Given the description of an element on the screen output the (x, y) to click on. 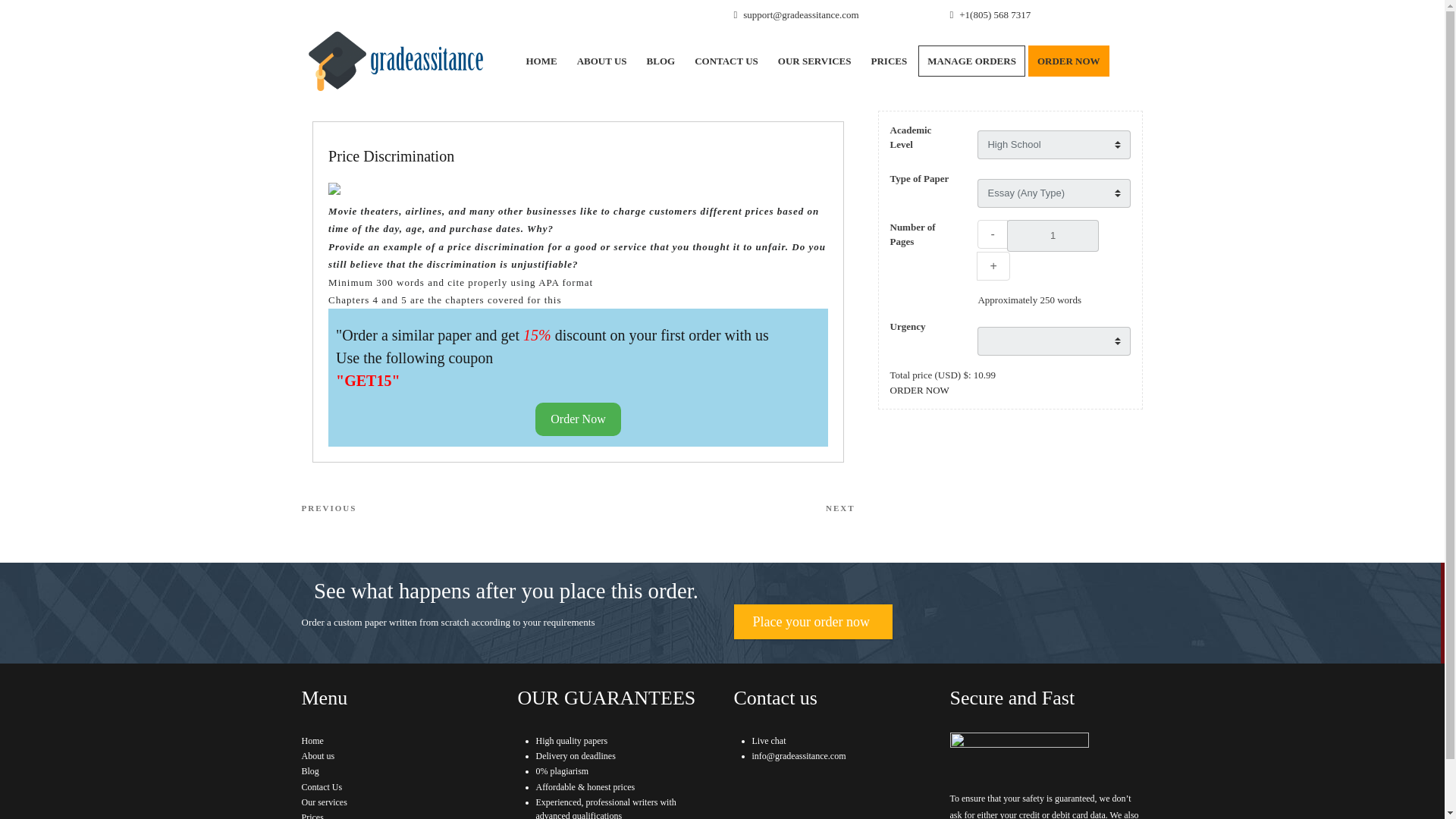
Blog (439, 508)
ORDER NOW (309, 770)
Order Now (919, 389)
Place your order now (577, 418)
About us (812, 621)
MANAGE ORDERS (317, 756)
Our services (971, 60)
- (324, 801)
PRICES (991, 234)
CONTACT US (889, 60)
BLOG (726, 60)
Contact Us (661, 60)
Prices (321, 787)
HOME (312, 815)
